Given the description of an element on the screen output the (x, y) to click on. 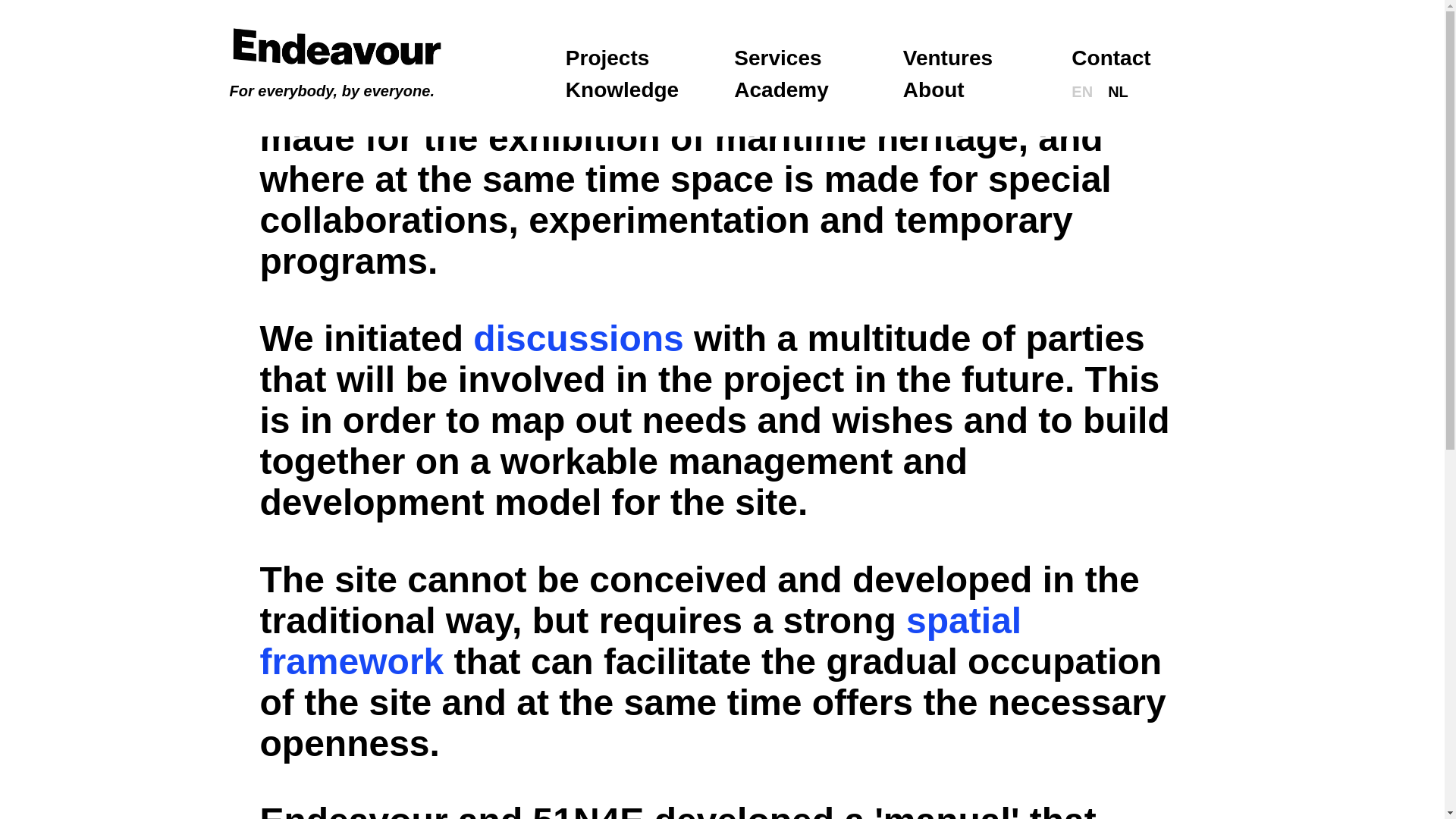
EN (1082, 91)
Projects (607, 57)
Academy (780, 89)
Knowledge (622, 89)
Contact (1110, 57)
Services (777, 57)
Contact (1110, 57)
Knowledge (622, 89)
Cooperative (932, 89)
Ventures (947, 57)
